Given the description of an element on the screen output the (x, y) to click on. 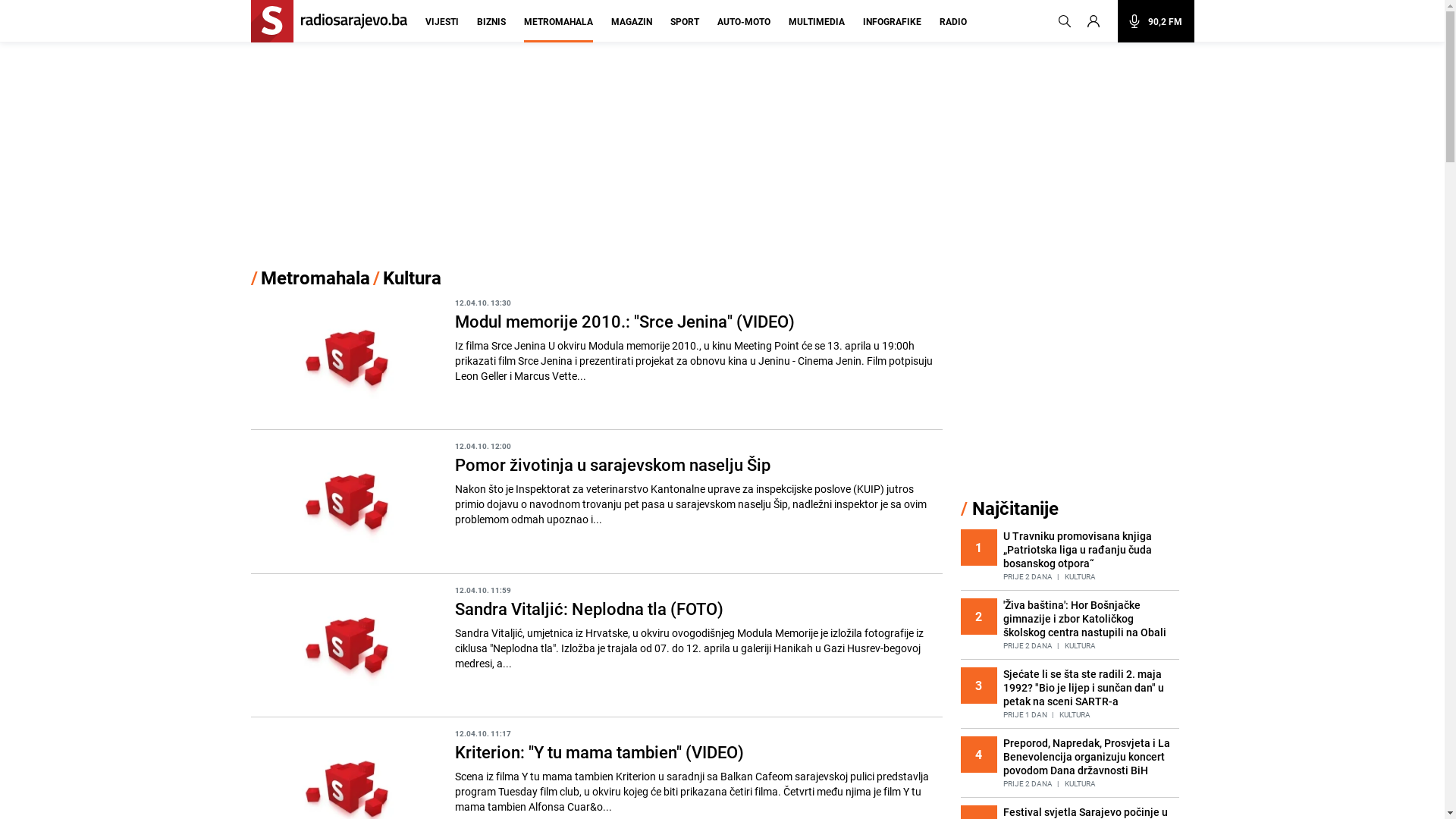
Metromahala Element type: text (315, 277)
RADIO Element type: text (952, 28)
Advertisement Element type: hover (721, 155)
MULTIMEDIA Element type: text (816, 28)
INFOGRAFIKE Element type: text (891, 28)
METROMAHALA Element type: text (557, 28)
VIJESTI Element type: text (441, 28)
Advertisement Element type: hover (1073, 381)
Pretraga Element type: hover (1064, 20)
MAGAZIN Element type: text (631, 28)
BIZNIS Element type: text (490, 28)
AUTO-MOTO Element type: text (743, 28)
Prijava i registracija korisnika Element type: hover (1099, 21)
SPORT Element type: text (684, 28)
Kultura Element type: text (411, 277)
90,2 FM Element type: text (1155, 21)
